Given the description of an element on the screen output the (x, y) to click on. 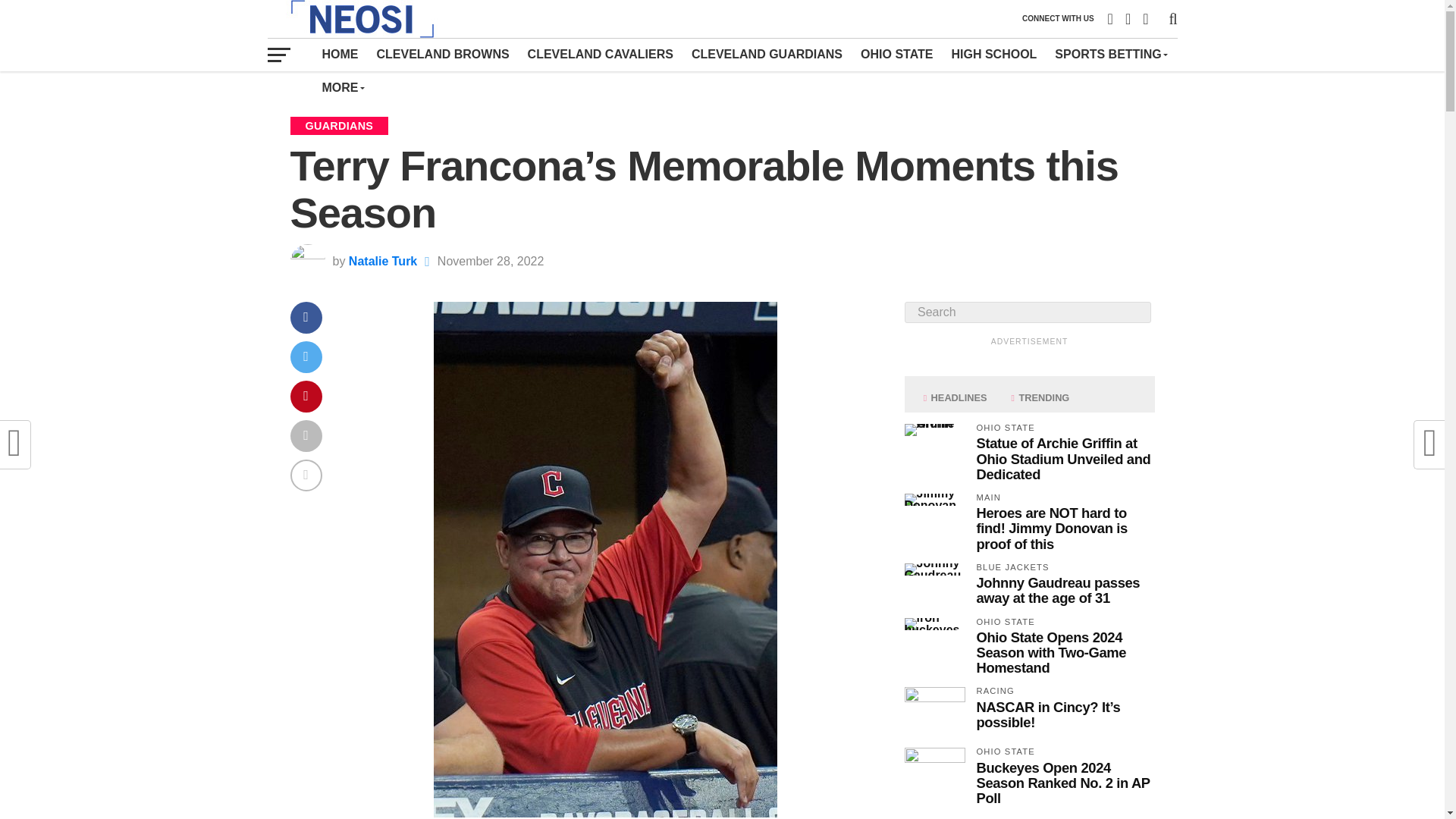
CLEVELAND CAVALIERS (600, 54)
CLEVELAND BROWNS (442, 54)
Search (1027, 312)
HOME (339, 54)
CLEVELAND GUARDIANS (766, 54)
Posts by Natalie Turk (382, 260)
